Given the description of an element on the screen output the (x, y) to click on. 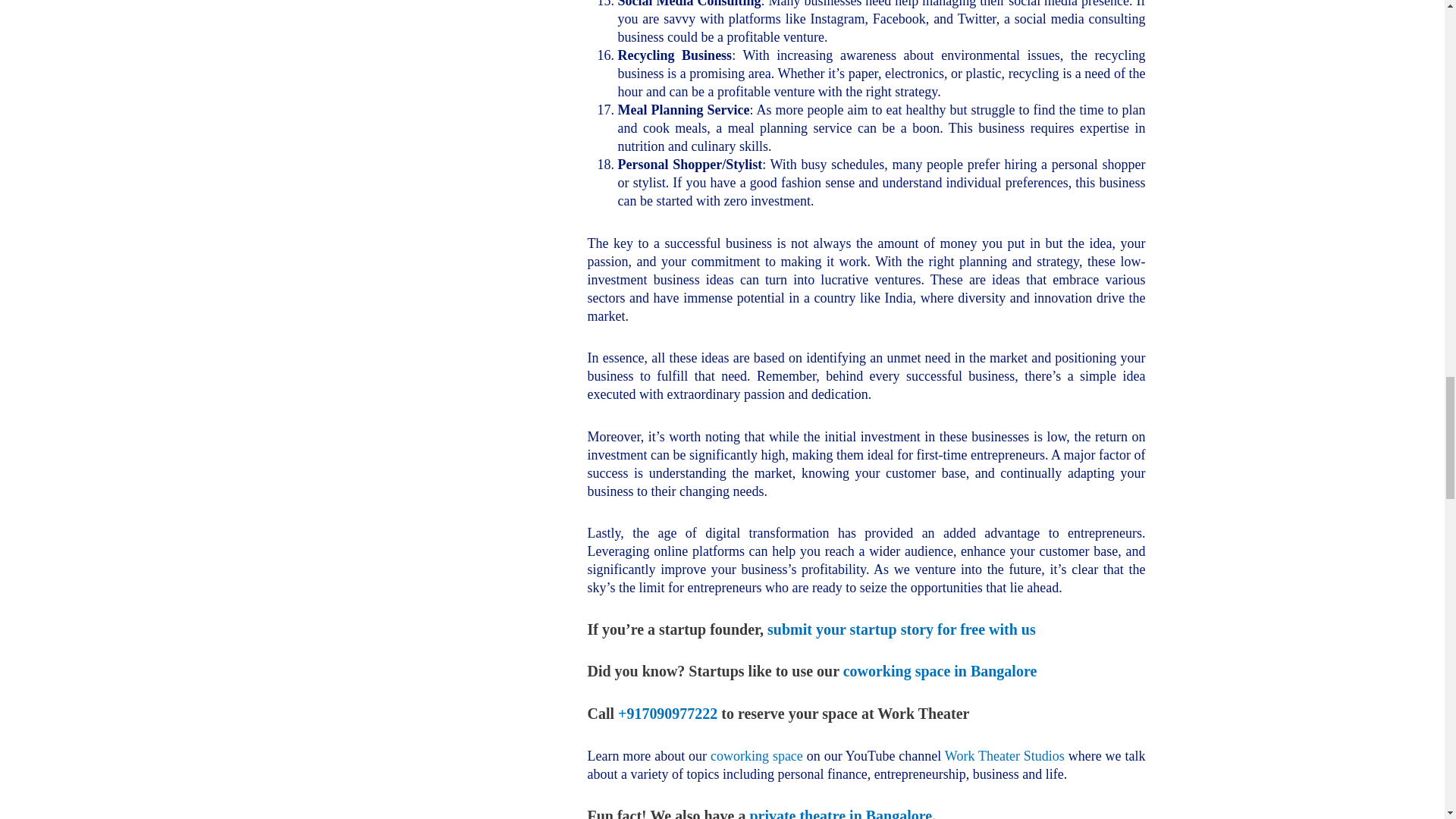
submit your startup story for free with us (901, 629)
coworking space (756, 755)
Work Theater Studios (1004, 755)
coworking space in Bangalore (939, 670)
private theatre in Bangalore (840, 812)
